Given the description of an element on the screen output the (x, y) to click on. 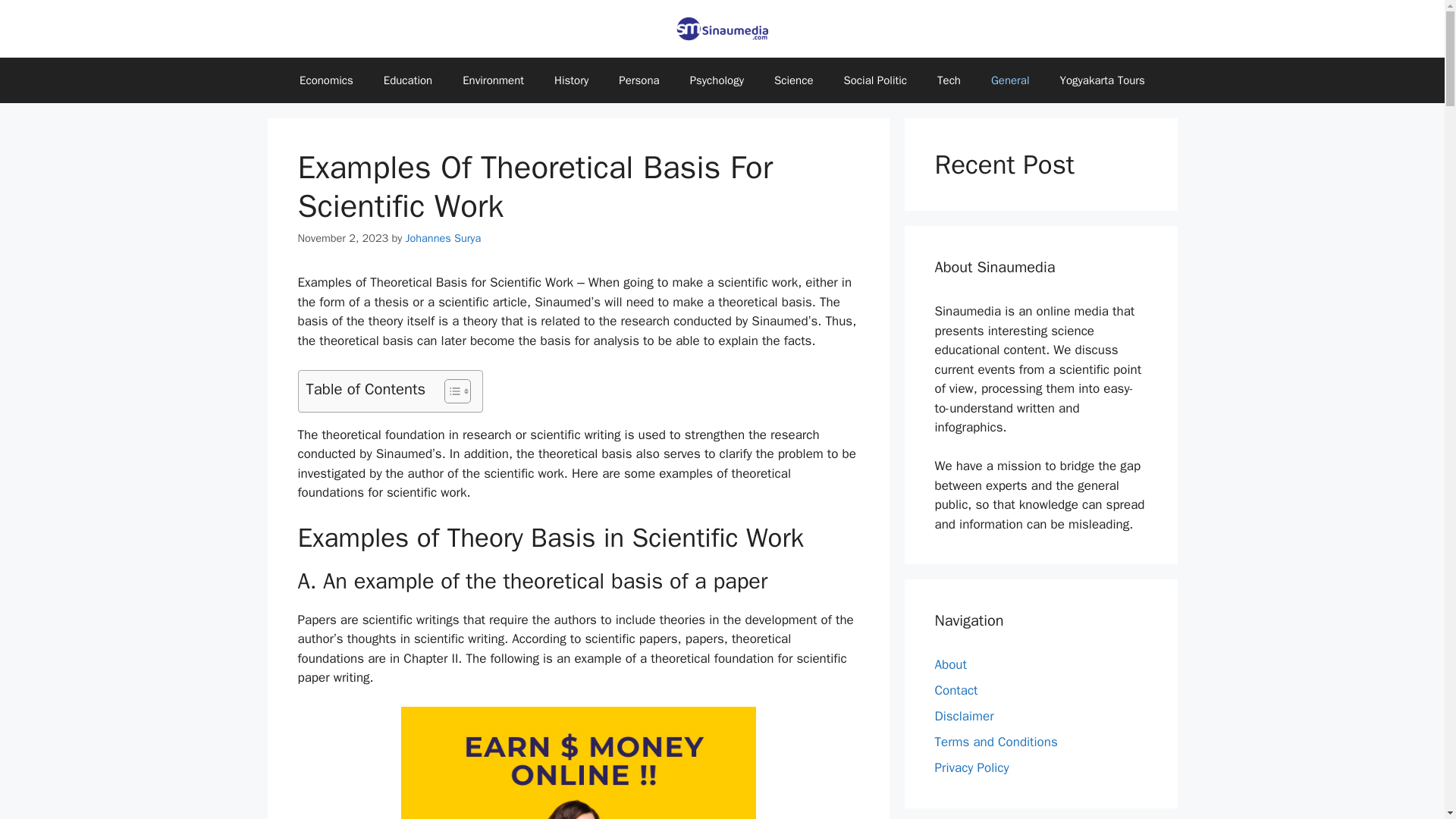
Social Politic (874, 80)
Yogyakarta Tours (1102, 80)
Psychology (716, 80)
Persona (639, 80)
Environment (492, 80)
History (571, 80)
Tech (948, 80)
General (1010, 80)
Education (407, 80)
View all posts by Johannes Surya (443, 237)
Science (793, 80)
Johannes Surya (443, 237)
Economics (325, 80)
